Given the description of an element on the screen output the (x, y) to click on. 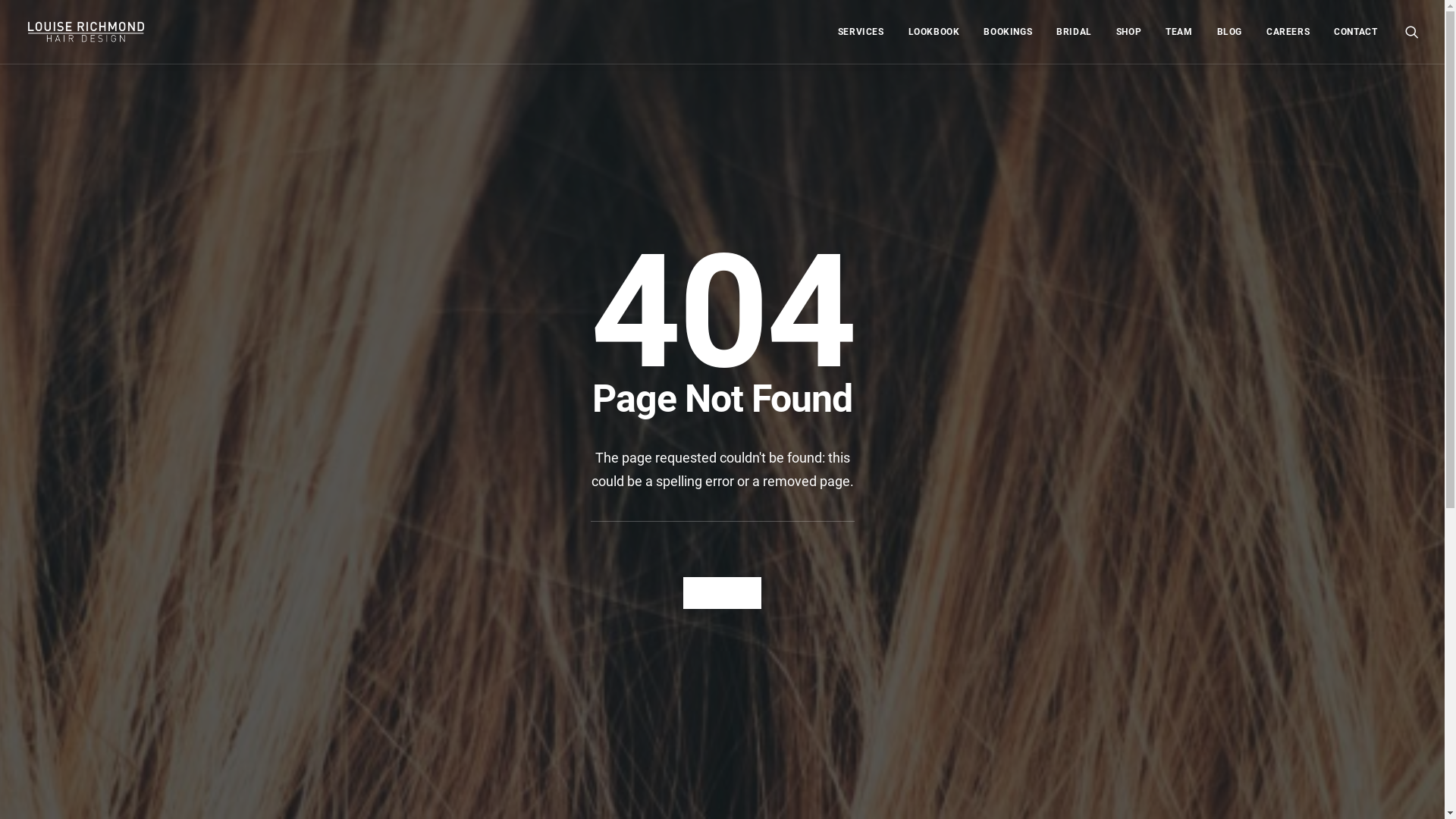
CONTACT Element type: text (1350, 31)
BLOG Element type: text (1229, 31)
BRIDAL Element type: text (1073, 31)
LOOKBOOK Element type: text (933, 31)
BOOKINGS Element type: text (1007, 31)
SHOP Element type: text (1128, 31)
TEAM Element type: text (1178, 31)
HOME Element type: text (722, 592)
CAREERS Element type: text (1287, 31)
SERVICES Element type: text (860, 31)
